Given the description of an element on the screen output the (x, y) to click on. 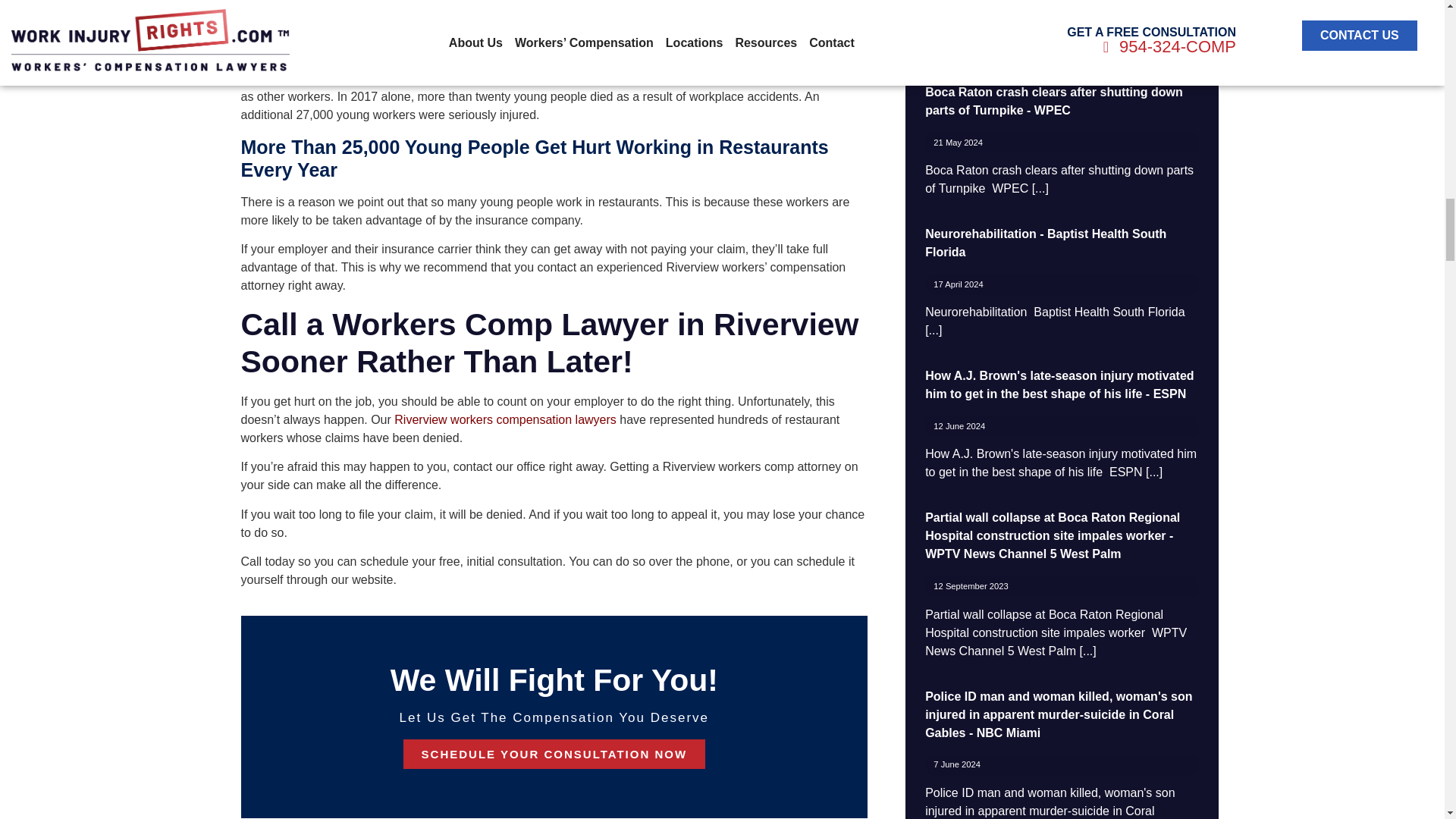
17 April 2024, 12:58 pm UTC (957, 284)
Read more (933, 329)
Read more (1153, 472)
13 February 2024, 8:00 am UTC (966, 2)
Neurorehabilitation - Baptist Health South Florida (1045, 242)
Read more (1165, 46)
21 May 2024, 7:00 am UTC (957, 142)
Read more (1040, 187)
12 June 2024, 7:00 am UTC (959, 425)
